Given the description of an element on the screen output the (x, y) to click on. 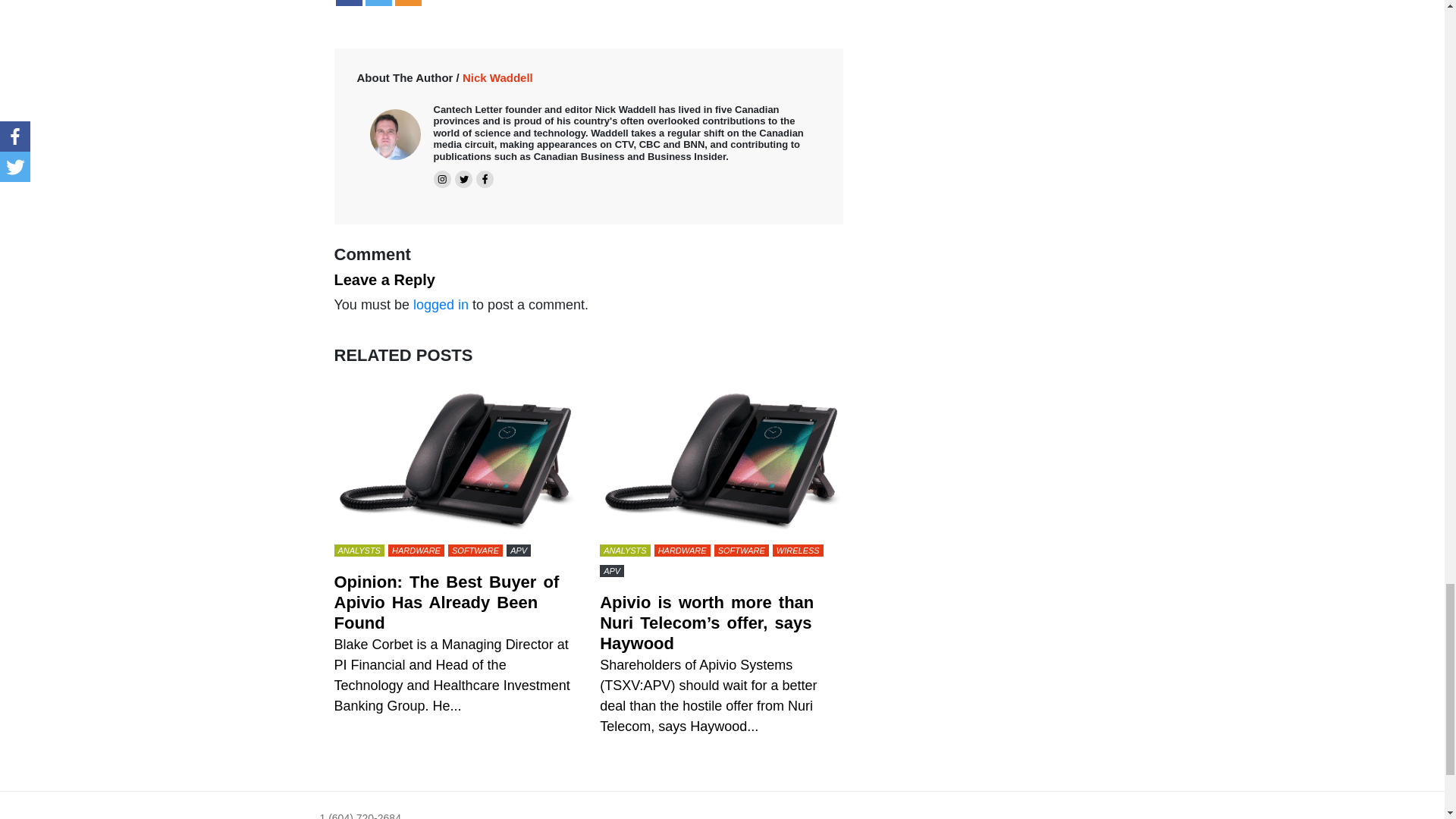
Facebook (347, 2)
More (407, 2)
Twitter (378, 2)
